Given the description of an element on the screen output the (x, y) to click on. 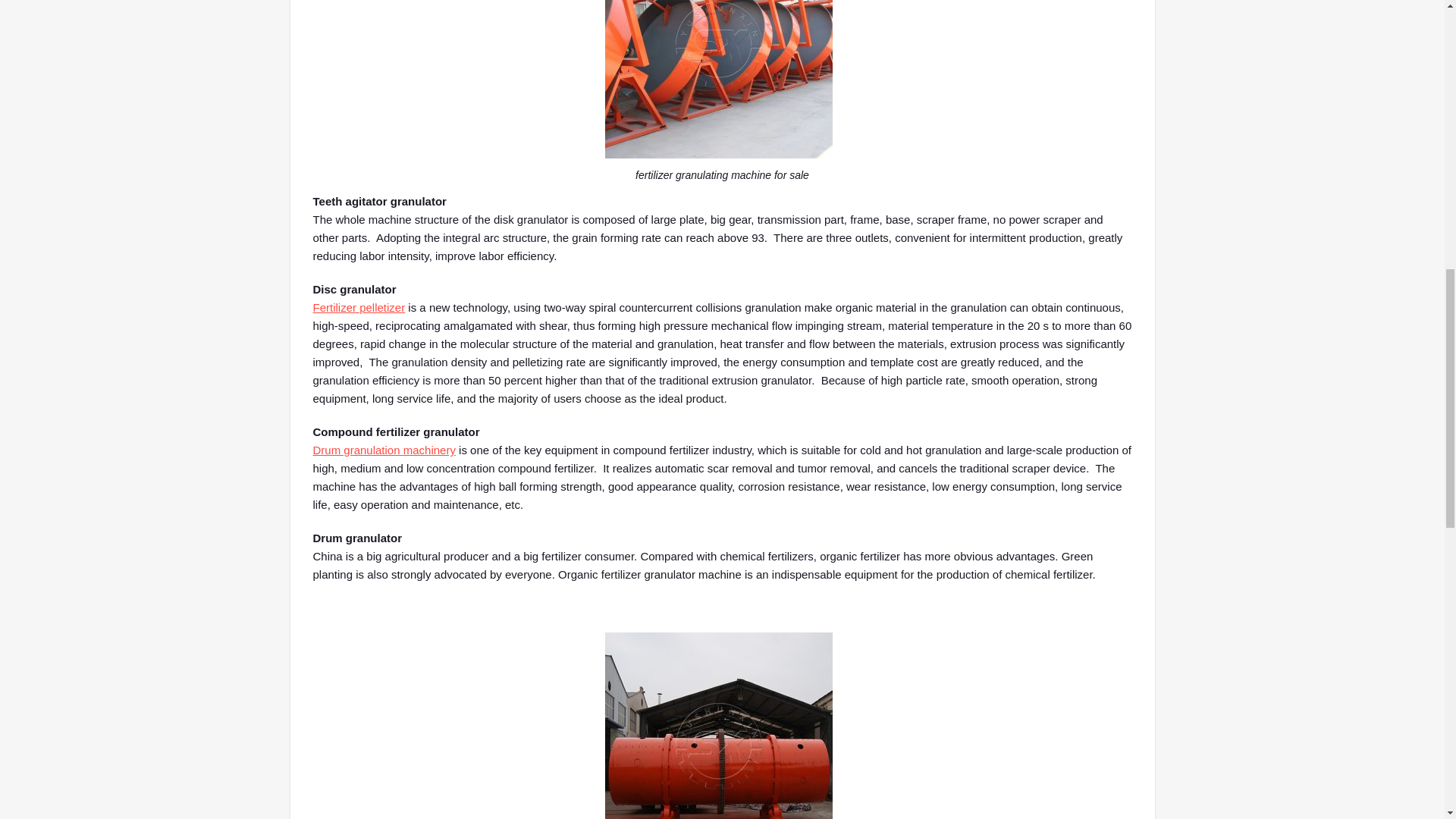
Drum granulation machinery (383, 449)
Fertilizer pelletizer (358, 307)
